Given the description of an element on the screen output the (x, y) to click on. 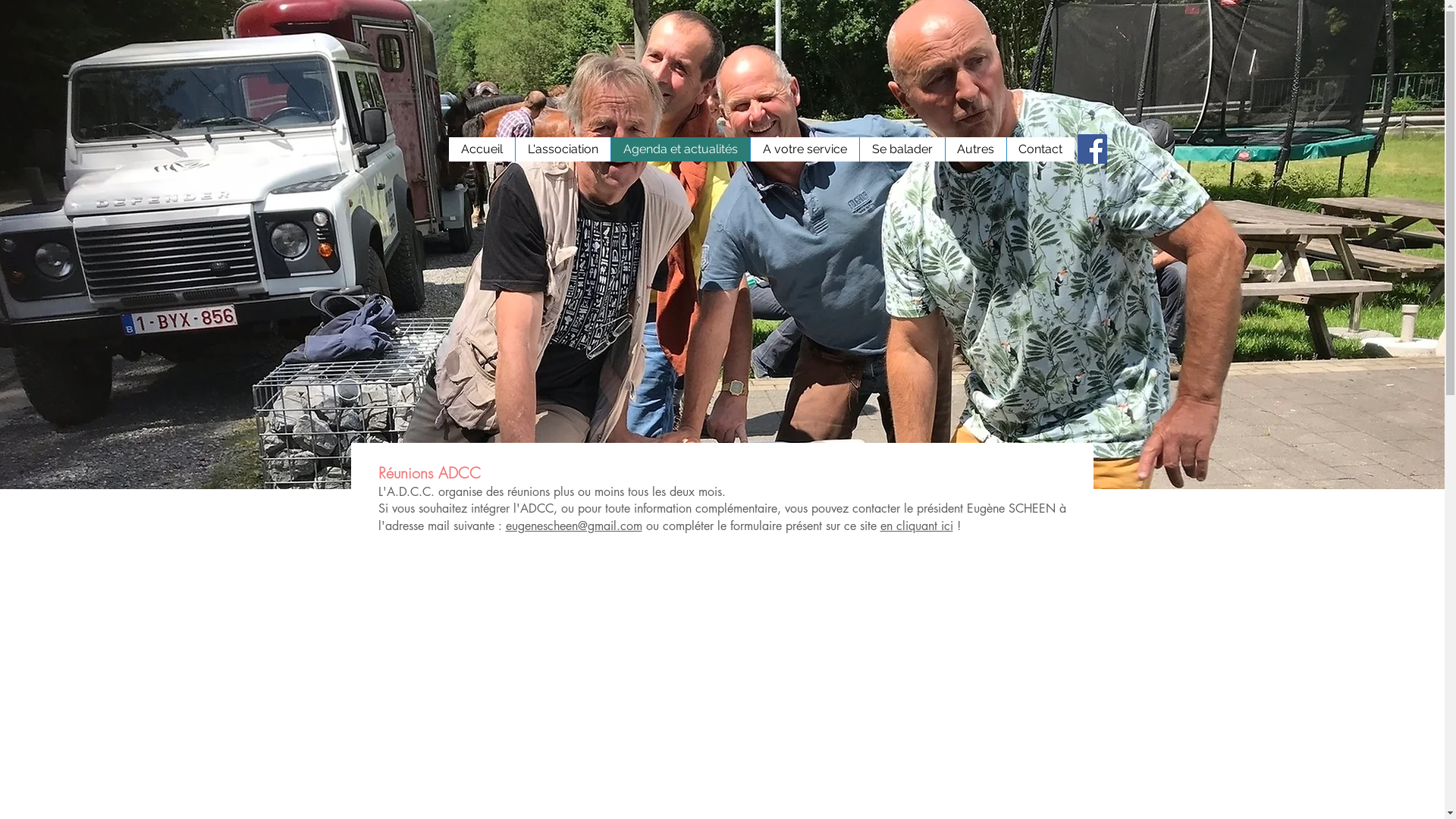
A votre service Element type: text (803, 149)
Contact Element type: text (1039, 149)
eugenescheen@gmail.com Element type: text (573, 525)
en cliquant ici Element type: text (915, 525)
L'association Element type: text (561, 149)
Se balader Element type: text (901, 149)
Accueil Element type: text (481, 149)
Autres Element type: text (975, 149)
